Given the description of an element on the screen output the (x, y) to click on. 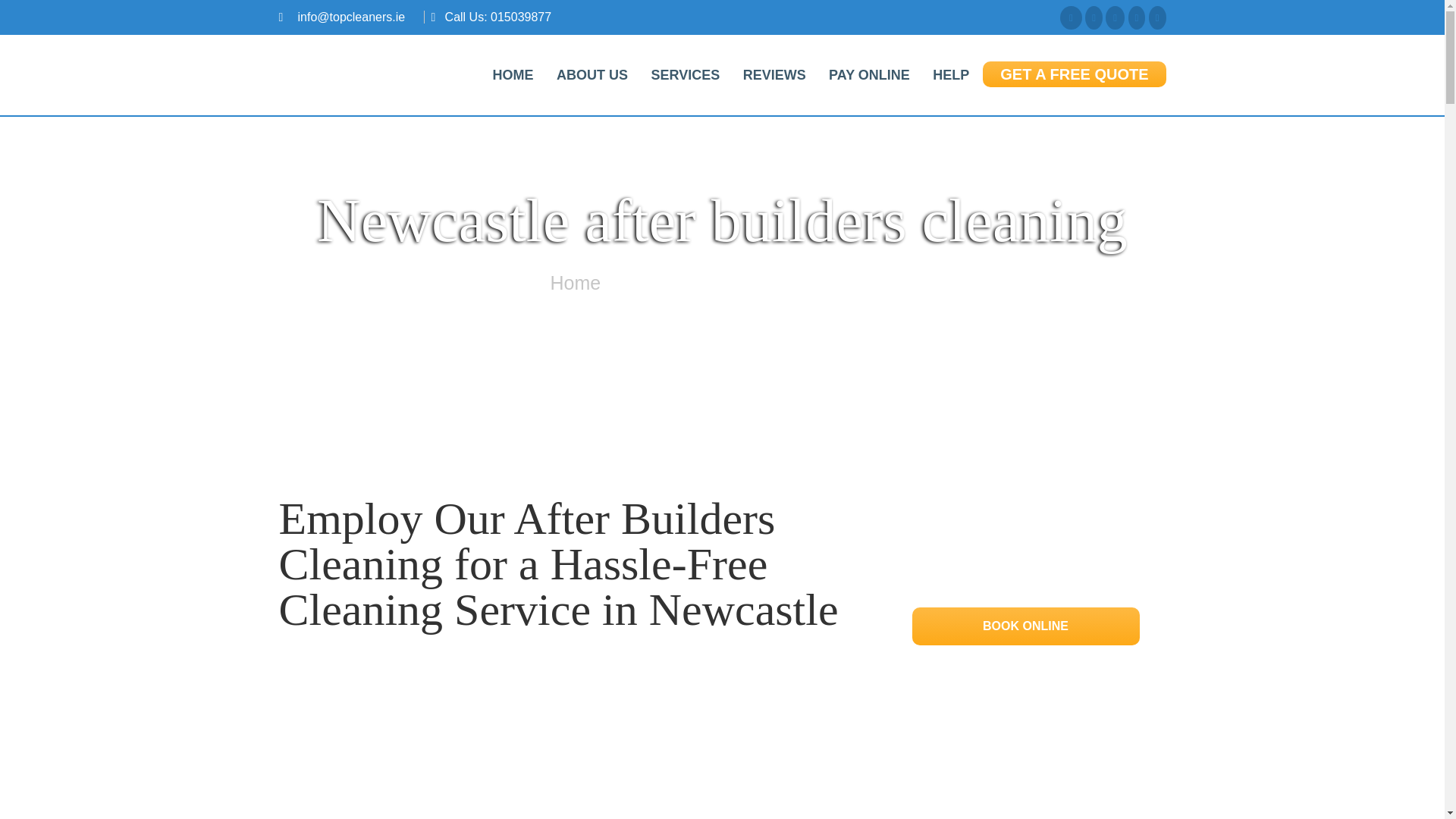
SERVICES (684, 74)
GET A FREE QUOTE (1074, 73)
BOOK ONLINE (1024, 626)
HELP (950, 74)
ABOUT US (592, 74)
PAY ONLINE (869, 74)
HOME (513, 74)
REVIEWS (774, 74)
Home (575, 282)
Call Us: 015039877 (498, 16)
BOOK ONLINE (1025, 625)
